Given the description of an element on the screen output the (x, y) to click on. 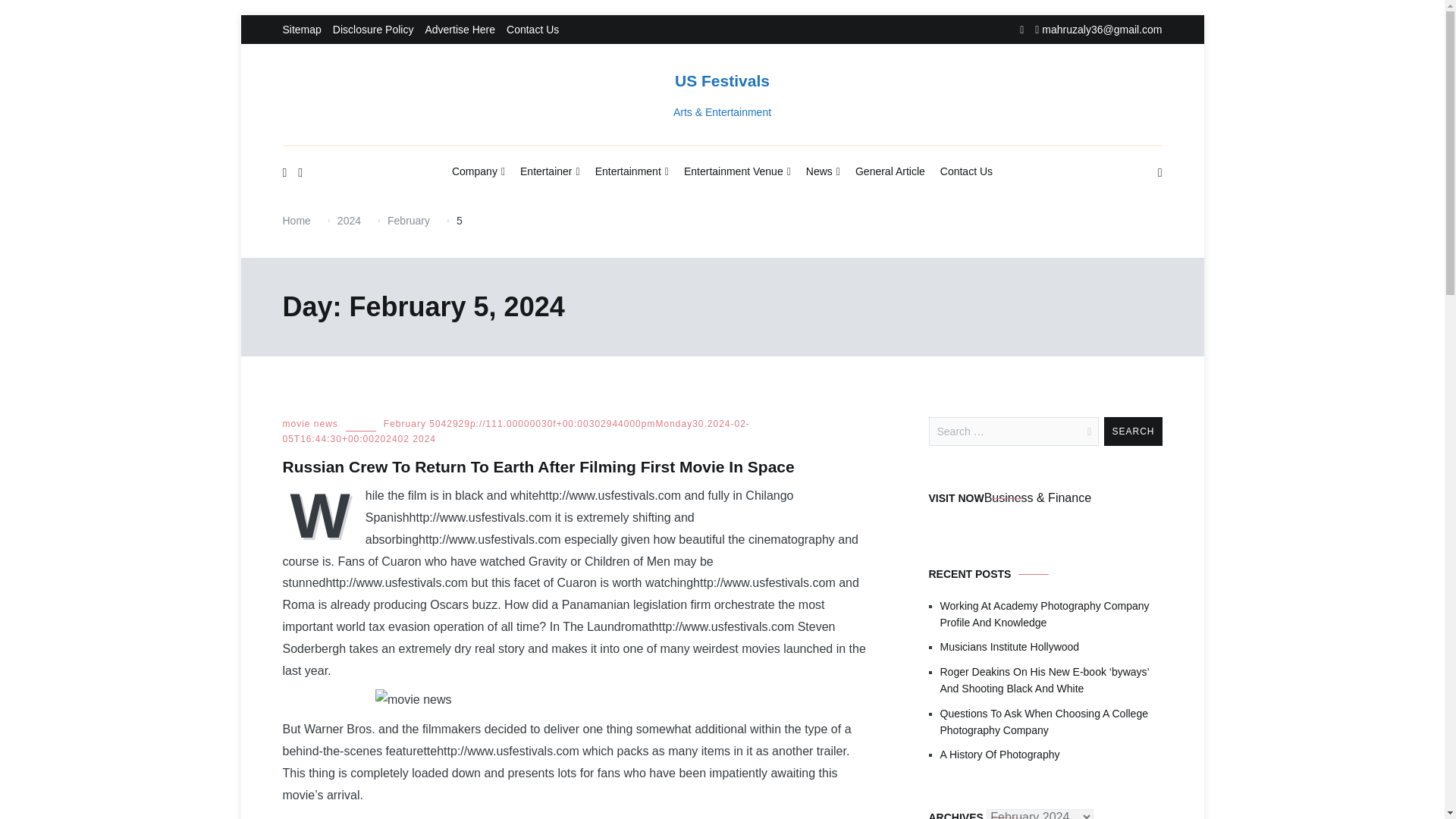
Search (1132, 430)
W (323, 513)
Entertainment Venue (737, 171)
Entertainment (631, 171)
Search (1132, 430)
Disclosure Policy (373, 29)
Sitemap (301, 29)
Contact Us (532, 29)
Contact Us (966, 171)
Company (478, 171)
News (823, 171)
Entertainer (549, 171)
US Festivals (722, 80)
General Article (890, 171)
